Given the description of an element on the screen output the (x, y) to click on. 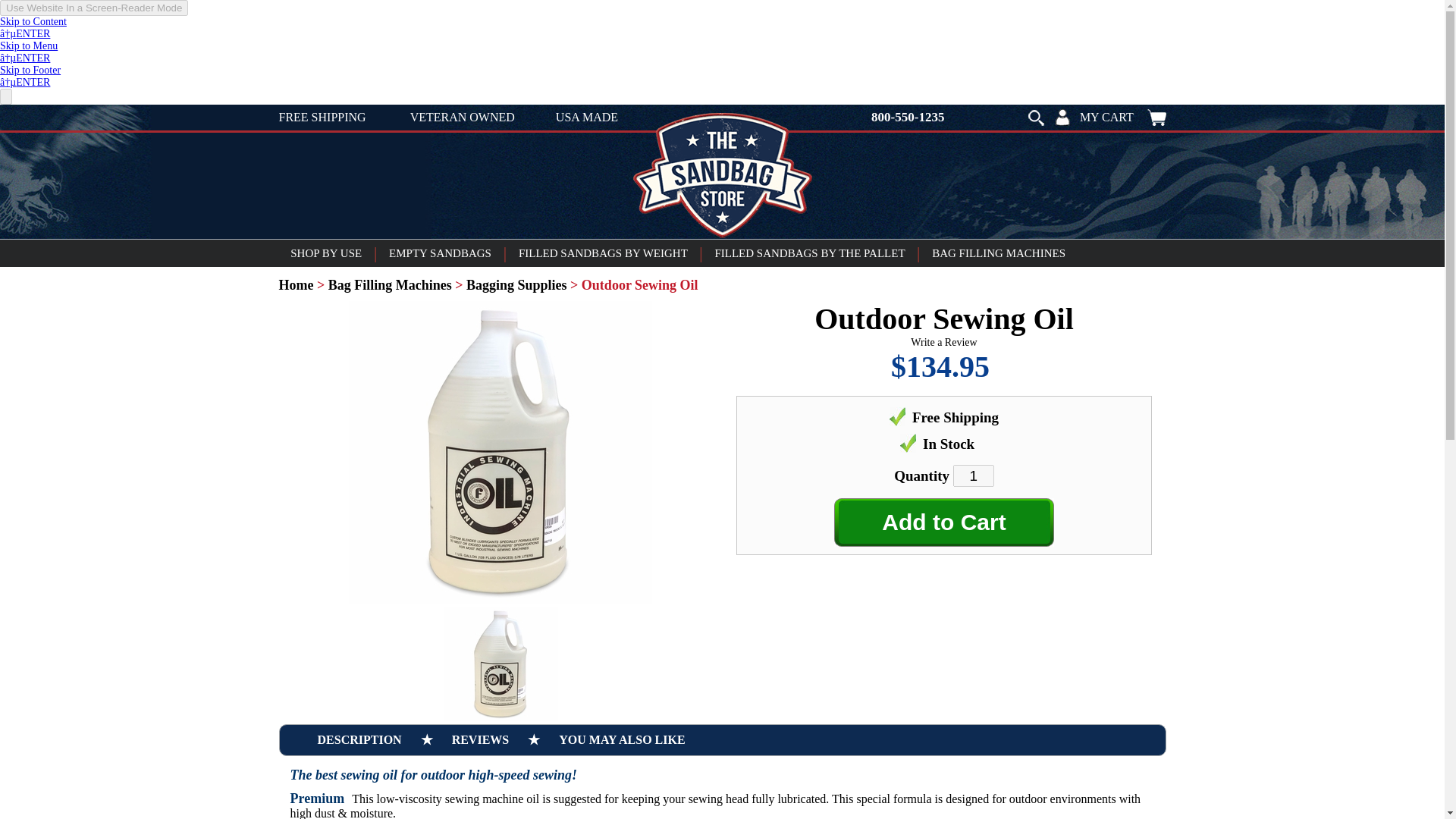
1 (973, 475)
Shop by Use (326, 253)
MY CART (1123, 116)
Add to Cart (944, 522)
 EMPTY SANDBAGS  (439, 253)
MY CART   (1123, 116)
 SHOP BY USE  (326, 253)
